Given the description of an element on the screen output the (x, y) to click on. 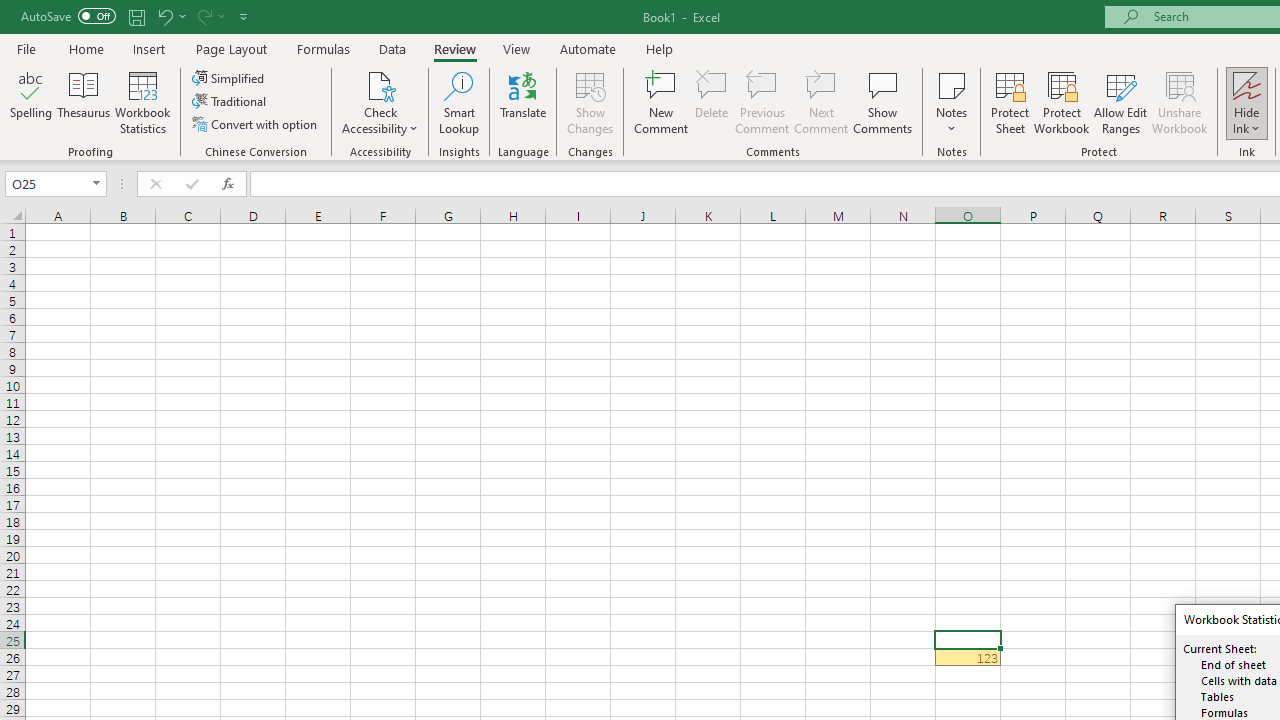
Check Accessibility (380, 102)
Convert with option (256, 124)
Name Box (56, 183)
